Given the description of an element on the screen output the (x, y) to click on. 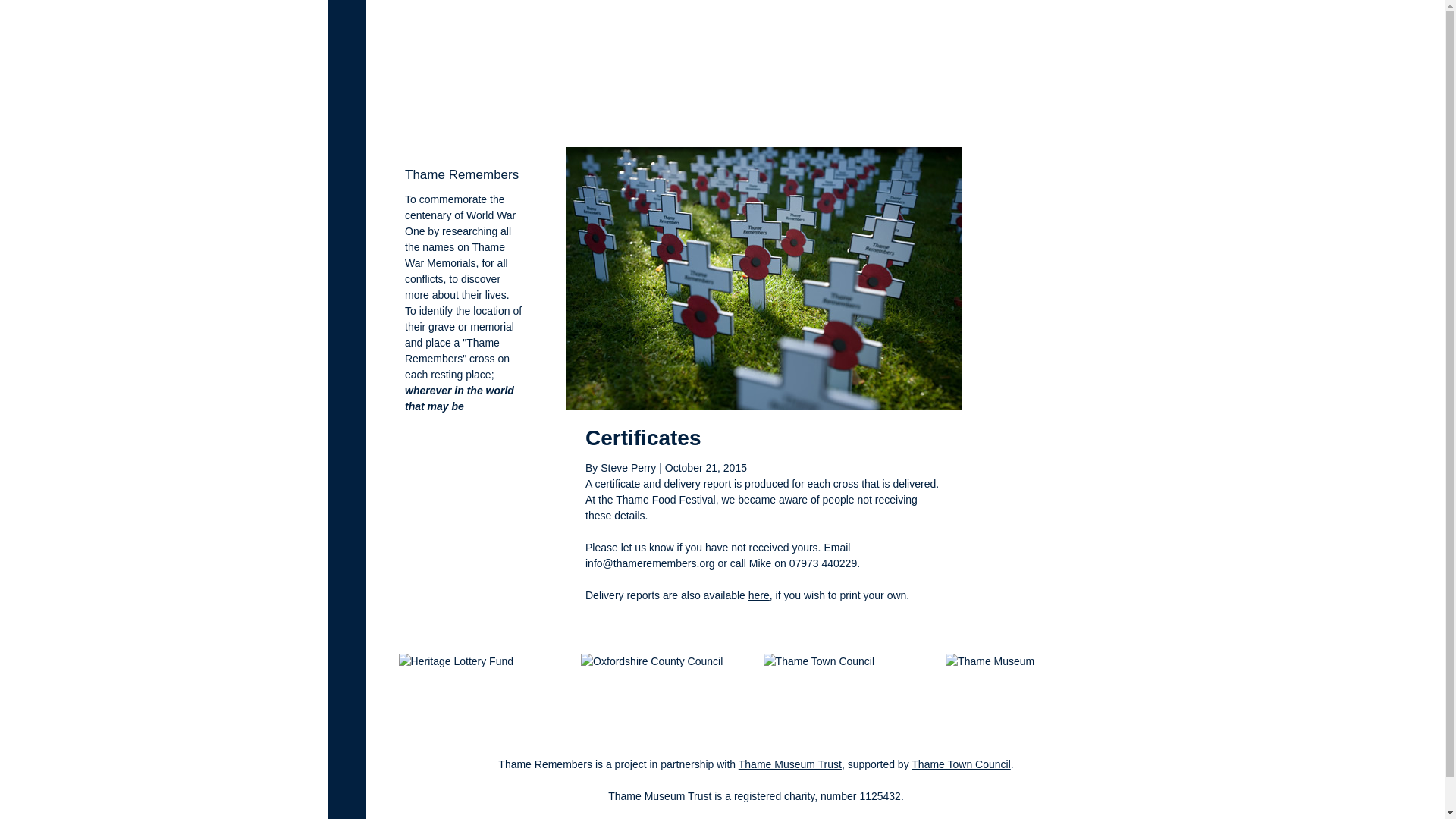
ThameRemembers on Facebook (1077, 100)
Contact (994, 101)
Home (642, 101)
Thame Remembers (430, 77)
ThameRemembers Channel on Youtube (1040, 100)
Roll of Honour (793, 101)
Thame Museum Trust (789, 764)
About the Project (708, 101)
here (759, 594)
Thame Town Council (960, 764)
Volunteer (943, 101)
Latest Updates (873, 101)
